Given the description of an element on the screen output the (x, y) to click on. 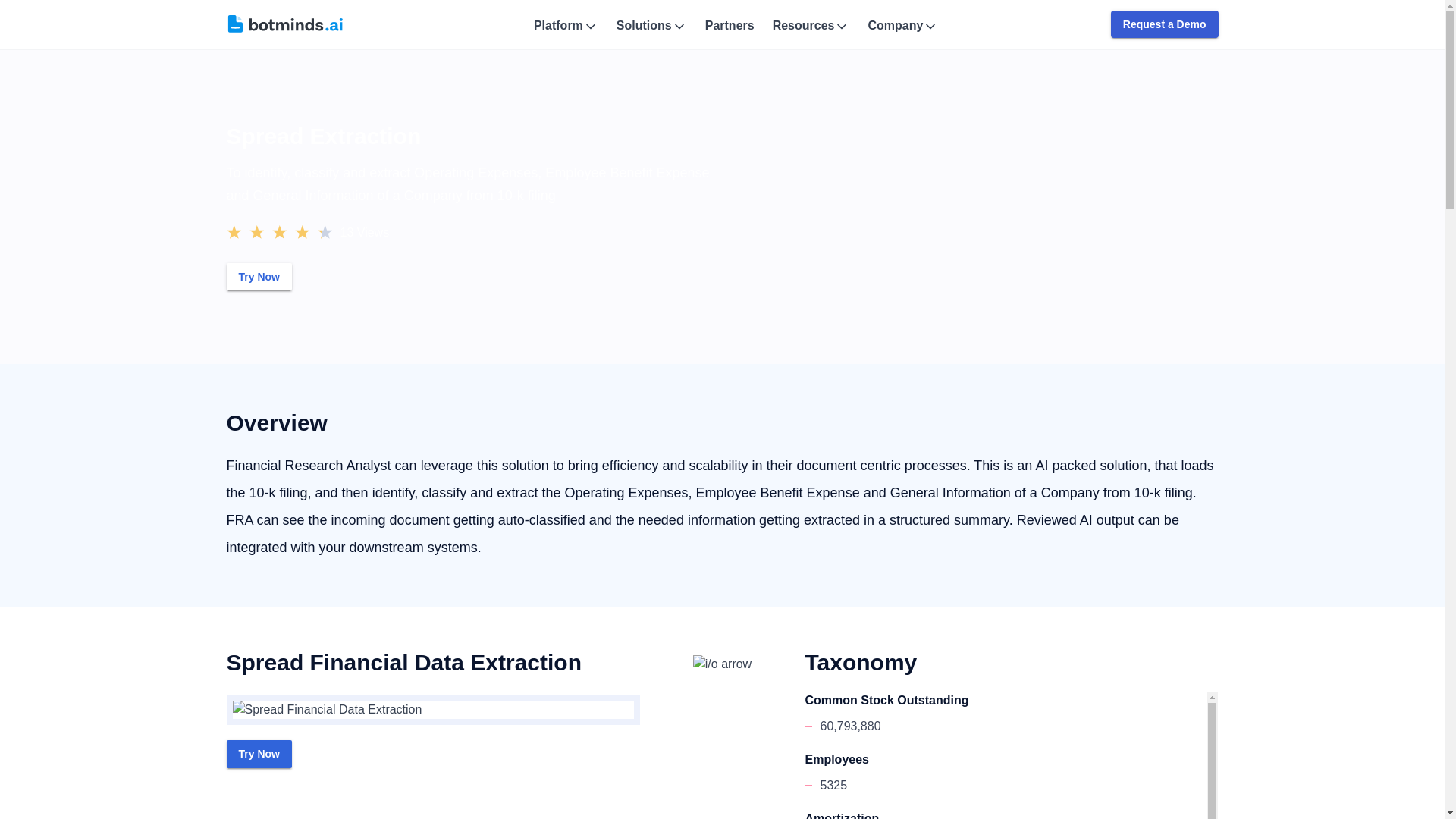
4.3 Stars (278, 230)
